Given the description of an element on the screen output the (x, y) to click on. 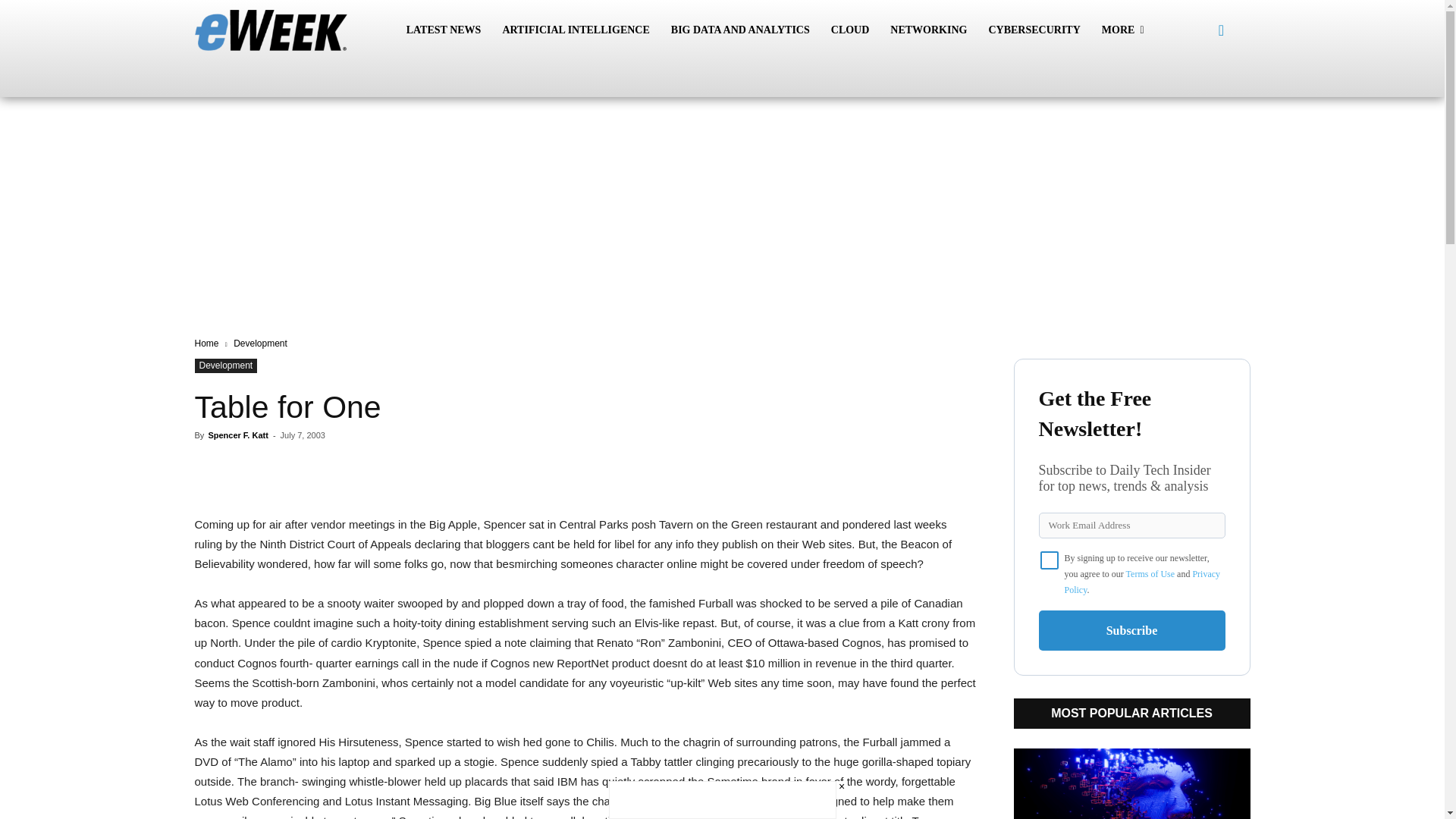
ARTIFICIAL INTELLIGENCE (575, 30)
CYBERSECURITY (1033, 30)
CLOUD (850, 30)
BIG DATA AND ANALYTICS (741, 30)
NETWORKING (927, 30)
LATEST NEWS (444, 30)
on (1049, 560)
